Given the description of an element on the screen output the (x, y) to click on. 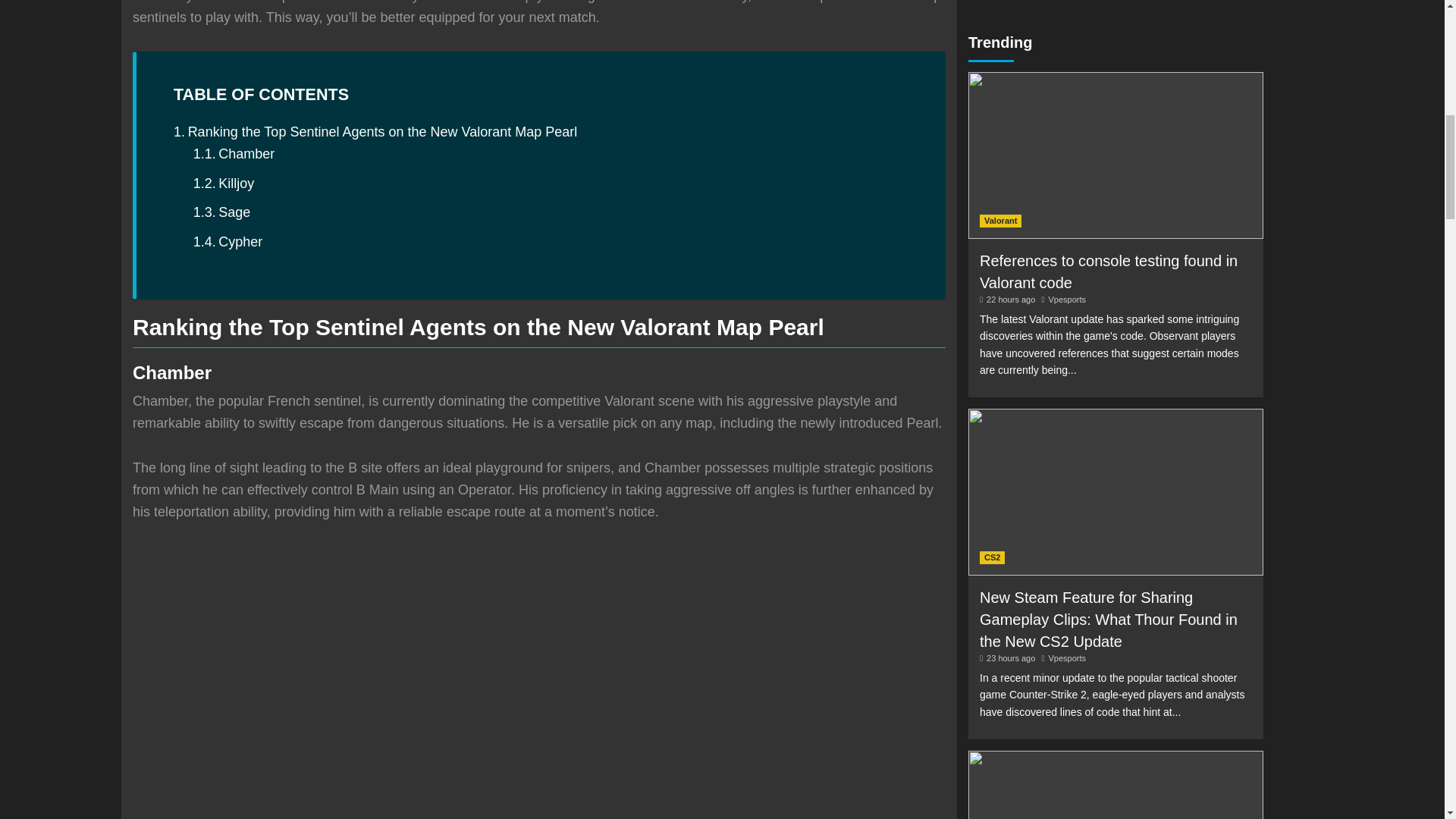
Cypher (228, 241)
Killjoy (223, 183)
Chamber (234, 154)
Sage (221, 212)
